Given the description of an element on the screen output the (x, y) to click on. 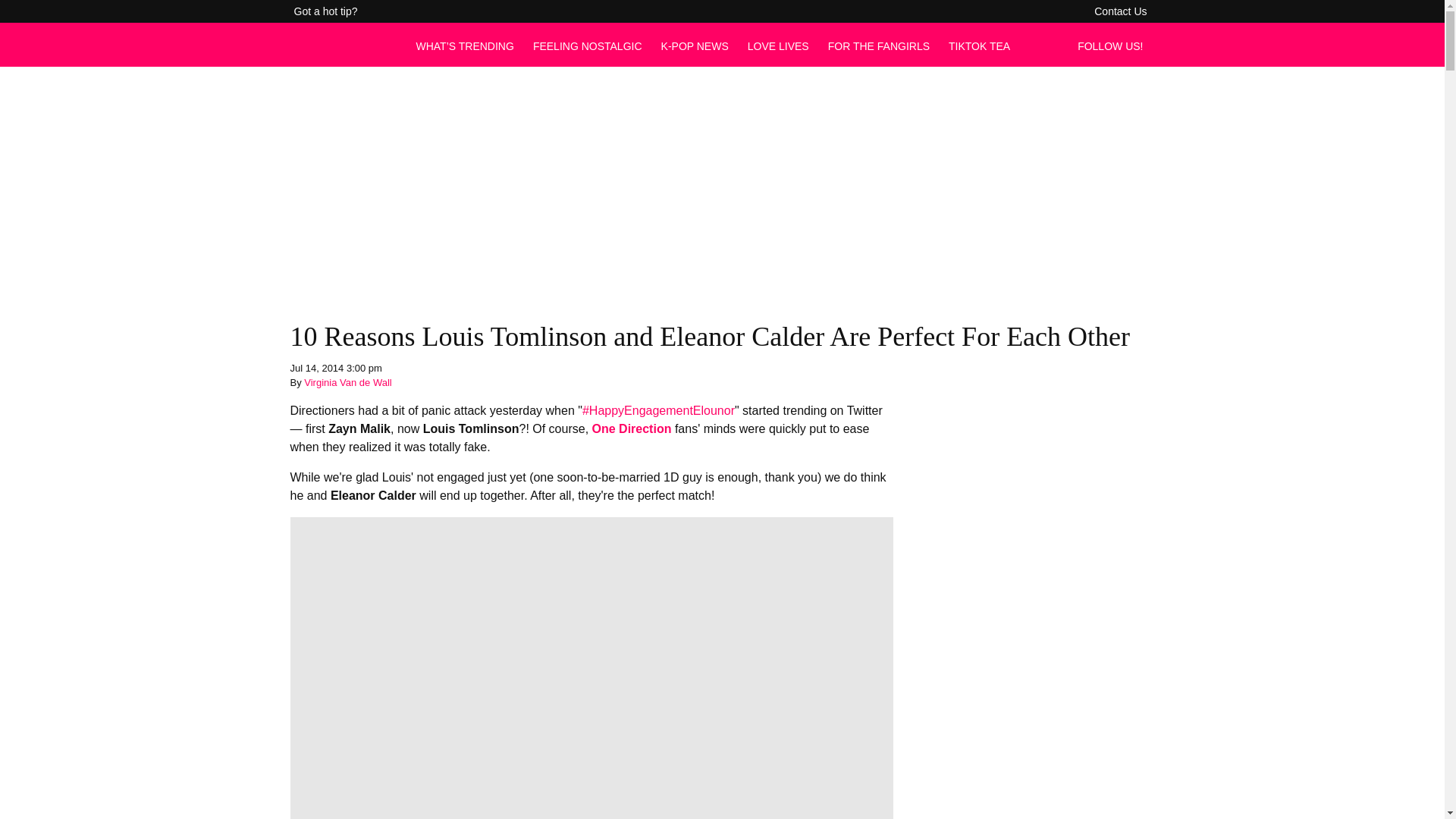
FOLLOW US! (1114, 45)
TIKTOK TEA (979, 46)
Contact Us (1120, 11)
Home (343, 52)
LOVE LIVES (778, 46)
K-POP NEWS (695, 46)
Virginia Van de Wall (347, 382)
One Direction (631, 428)
Got a hot tip? (325, 11)
FEELING NOSTALGIC (587, 46)
